Given the description of an element on the screen output the (x, y) to click on. 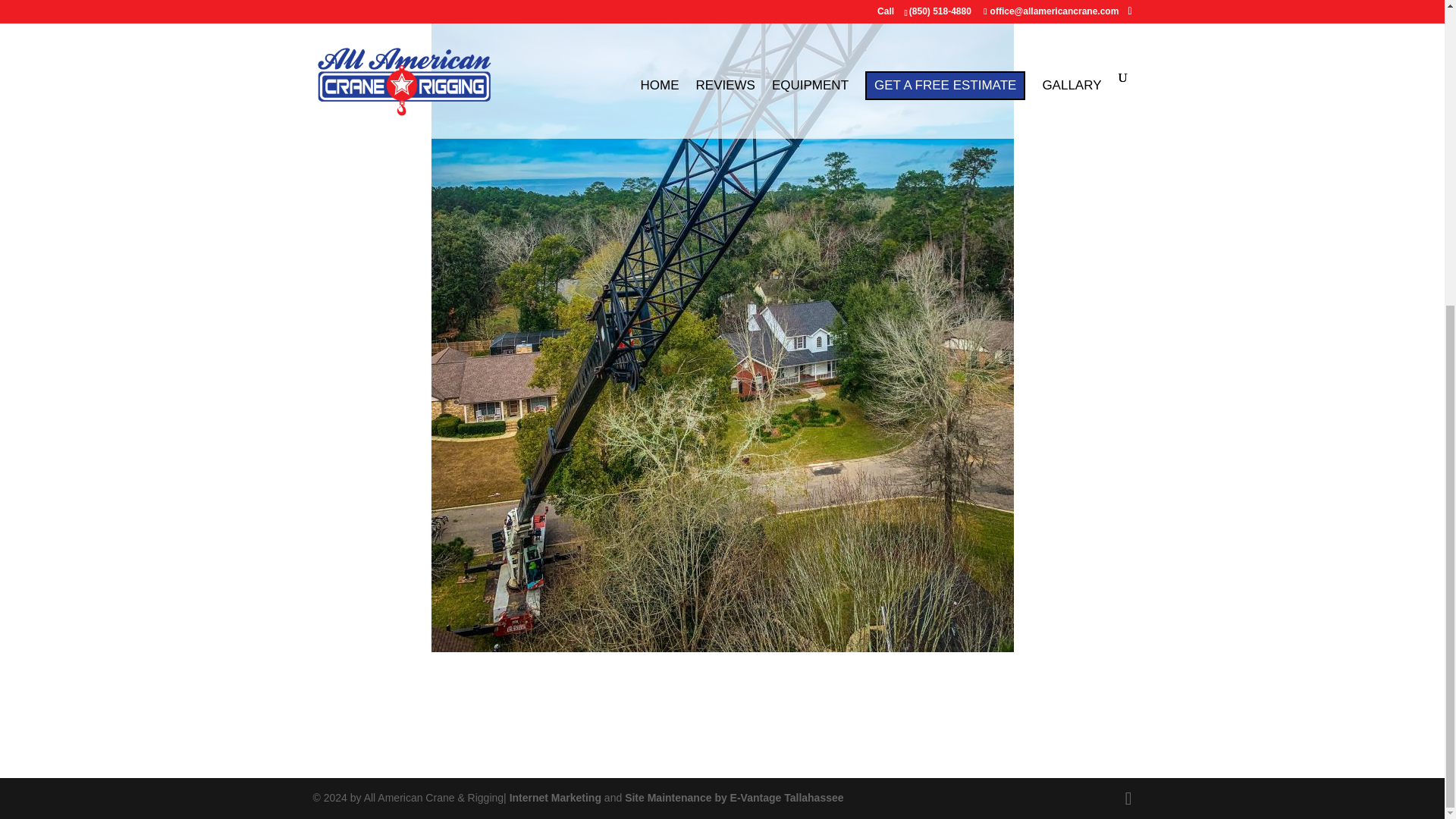
Internet Marketing (555, 797)
Site Maintenance by E-Vantage Tallahassee (733, 797)
